Given the description of an element on the screen output the (x, y) to click on. 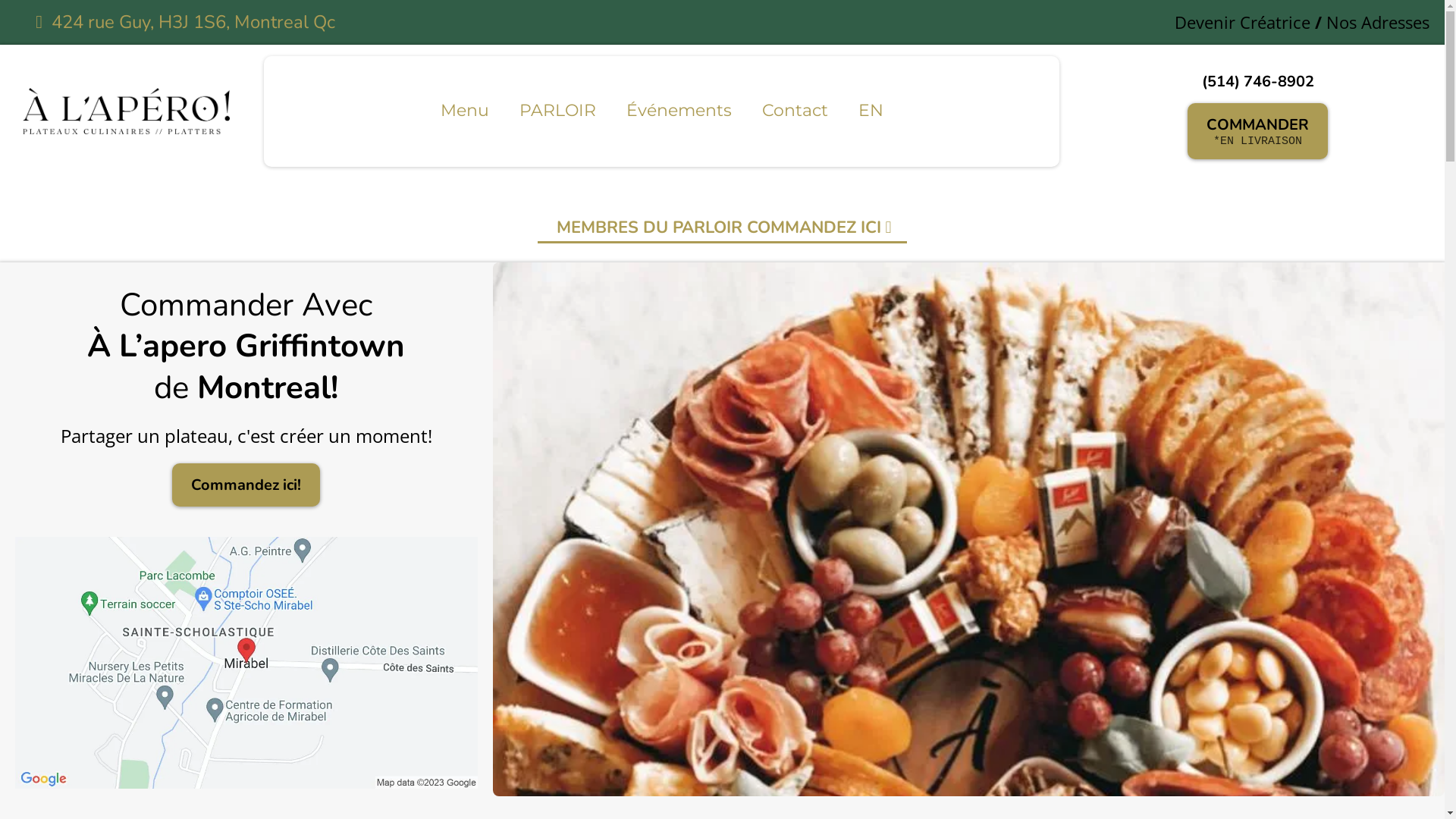
Menu Element type: text (464, 110)
Commandez ici! Element type: text (246, 484)
COMMANDER
*EN LIVRAISON Element type: text (1257, 131)
PARLOIR Element type: text (557, 110)
EN Element type: text (870, 110)
Contact Element type: text (794, 110)
(514) 746-8902 Element type: text (1258, 81)
Nos Adresses Element type: text (1377, 21)
MEMBRES DU PARLOIR COMMANDEZ ICI Element type: text (721, 223)
